Given the description of an element on the screen output the (x, y) to click on. 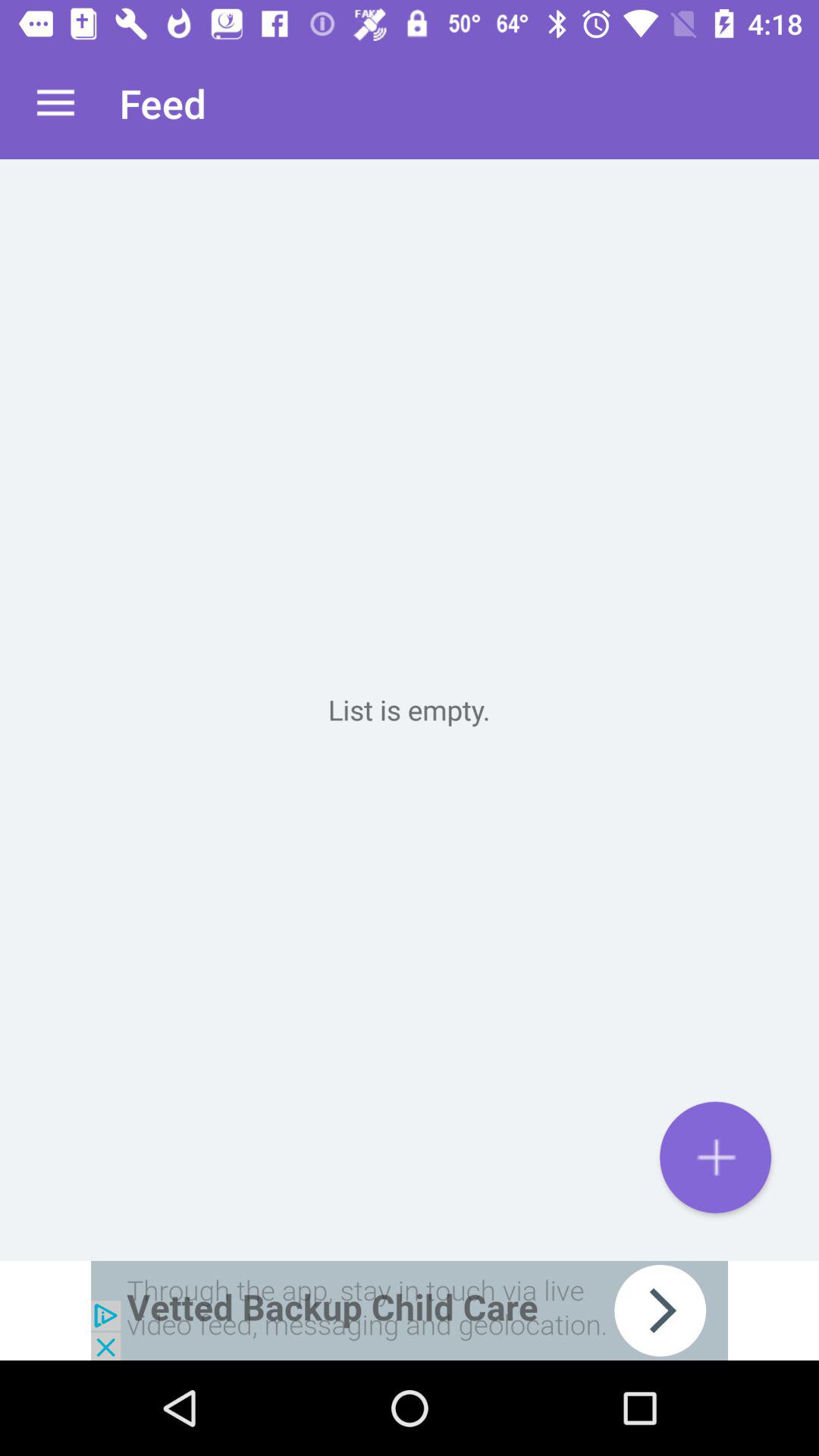
app advertisement (409, 1310)
